Given the description of an element on the screen output the (x, y) to click on. 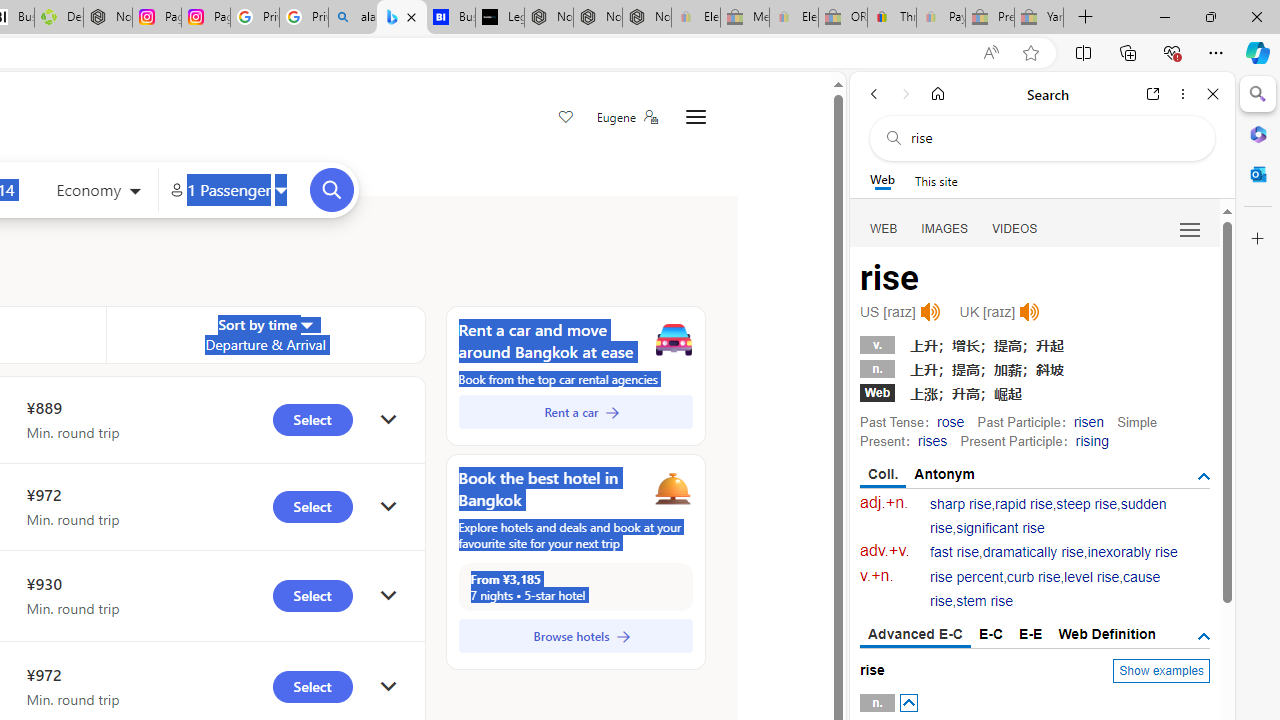
steep rise (1086, 503)
Web Definition (1106, 633)
Click to listen (1029, 312)
sharp rise (961, 503)
sudden rise (1048, 515)
Payments Terms of Use | eBay.com - Sleeping (940, 17)
Rent a car (575, 412)
AutomationID: tgsb (1203, 476)
